Given the description of an element on the screen output the (x, y) to click on. 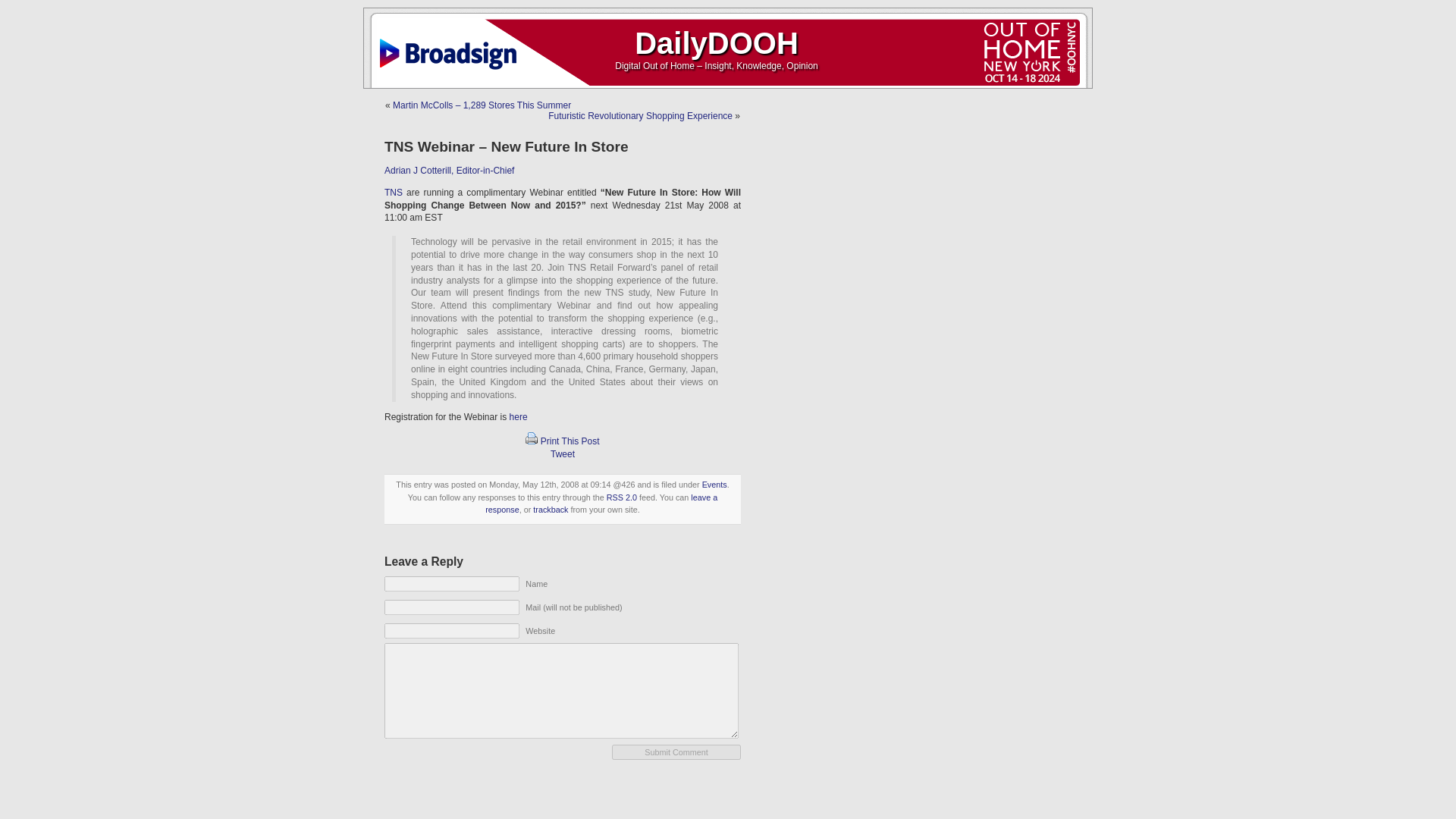
RSS 2.0 (622, 497)
here (518, 416)
BroadSign Digital Signage Software (451, 46)
Tweet (562, 453)
Print This Post (531, 438)
Events (713, 483)
leave a response (600, 504)
Futuristic Revolutionary Shopping Experience (640, 115)
Submit Comment (676, 752)
Adrian J Cotterill, Editor-in-Chief (448, 170)
